Given the description of an element on the screen output the (x, y) to click on. 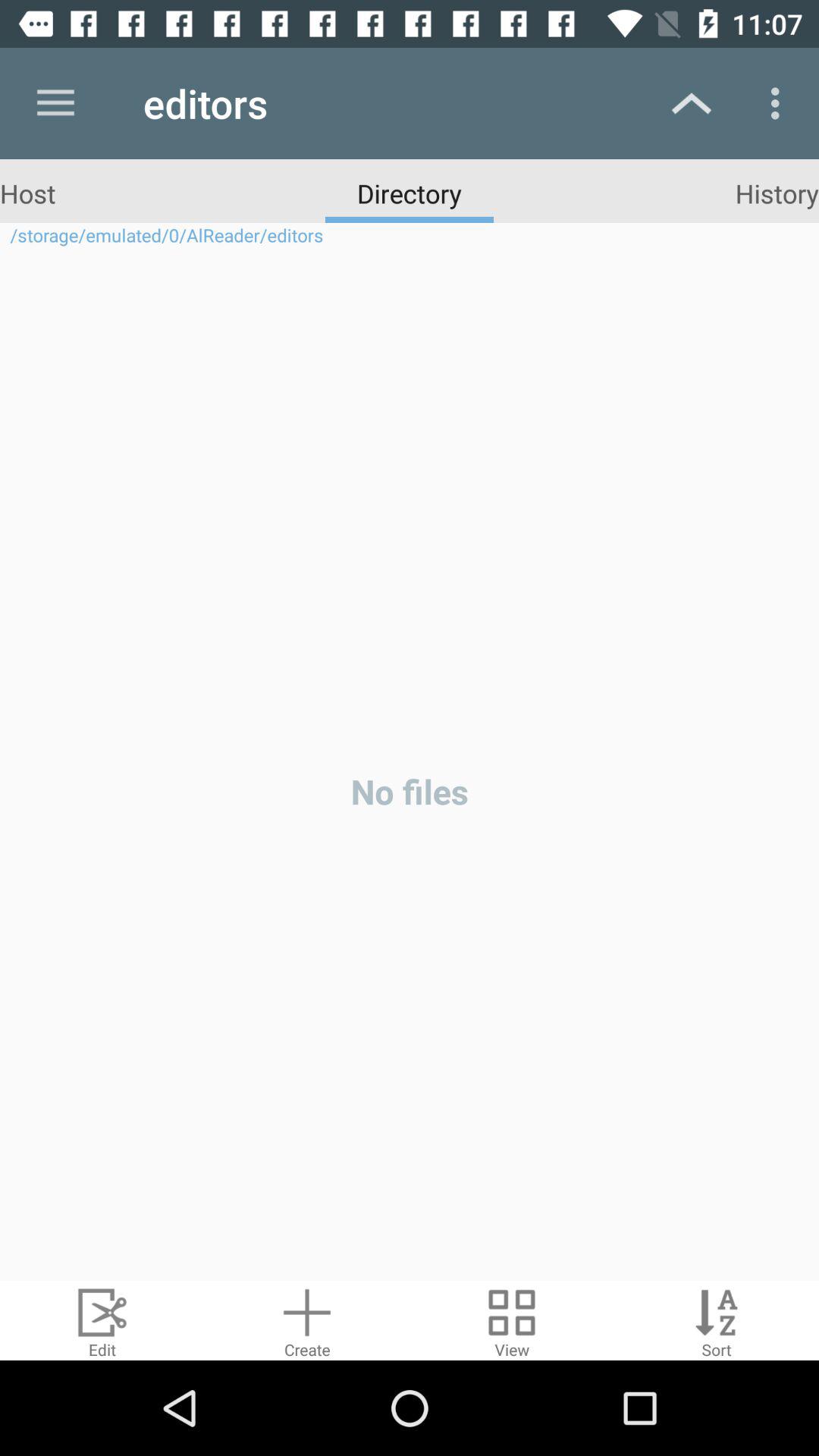
scroll to host icon (27, 193)
